Given the description of an element on the screen output the (x, y) to click on. 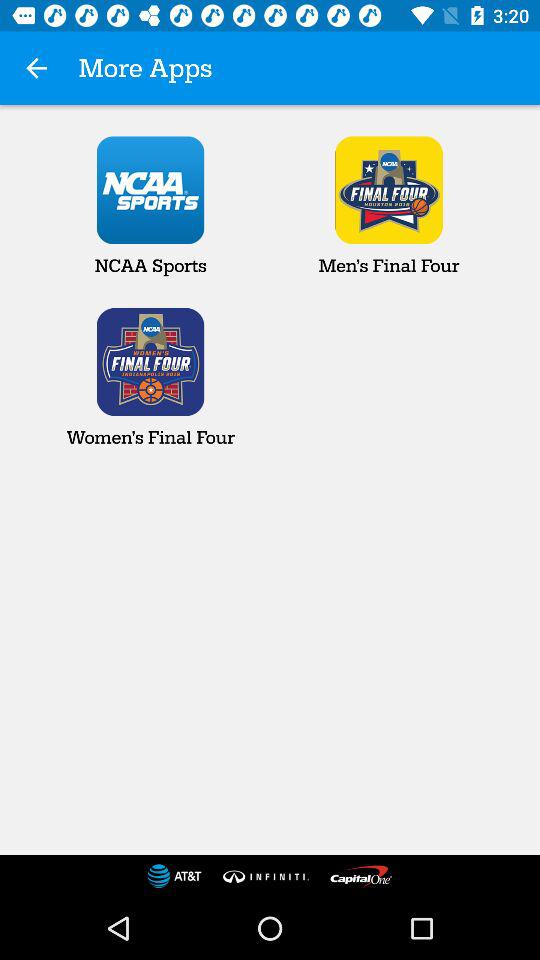
turn on app to the left of more apps item (36, 68)
